Given the description of an element on the screen output the (x, y) to click on. 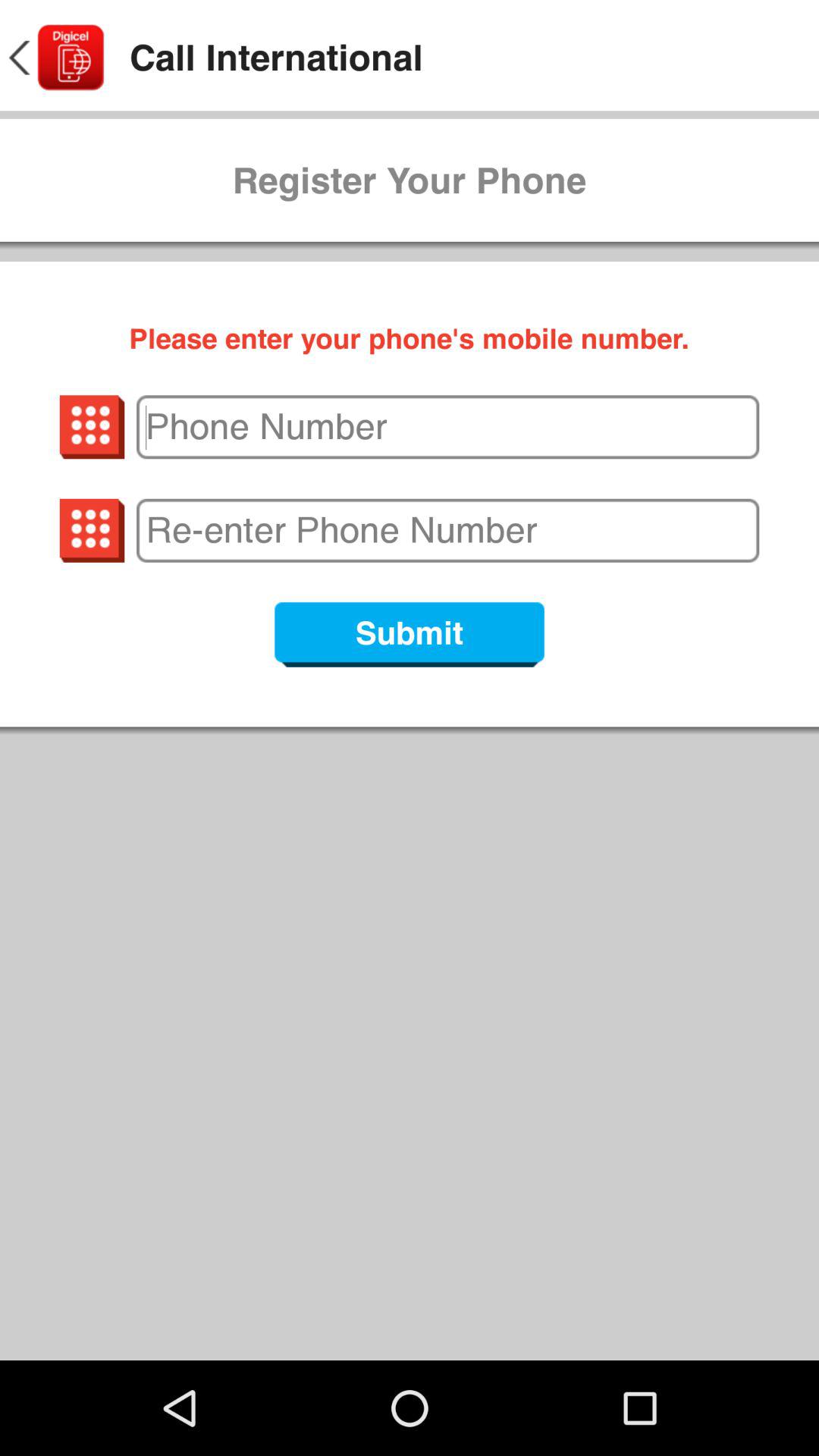
press submit icon (409, 634)
